Given the description of an element on the screen output the (x, y) to click on. 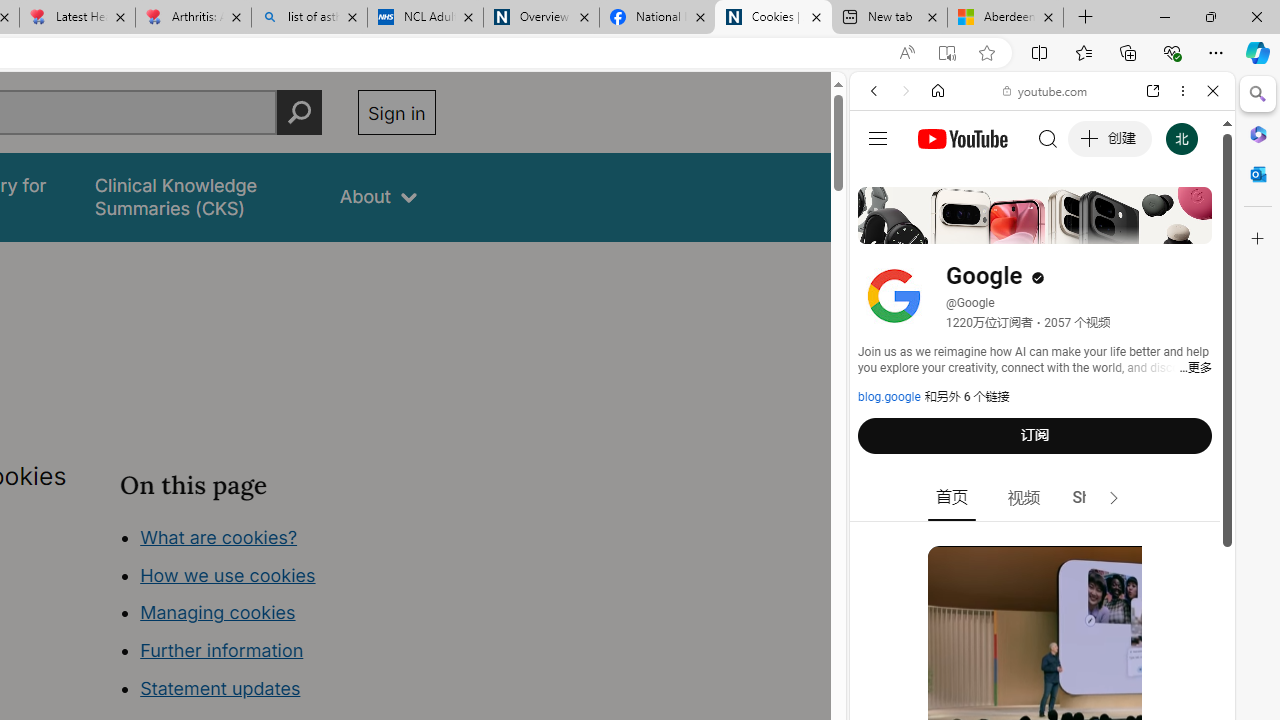
Managing cookies (217, 612)
How we use cookies (227, 574)
Class: b_serphb (1190, 229)
Google (1042, 494)
Class: style-scope tp-yt-iron-icon (1114, 498)
Search videos from youtube.com (1005, 657)
#you (1042, 445)
Music (1042, 543)
